Given the description of an element on the screen output the (x, y) to click on. 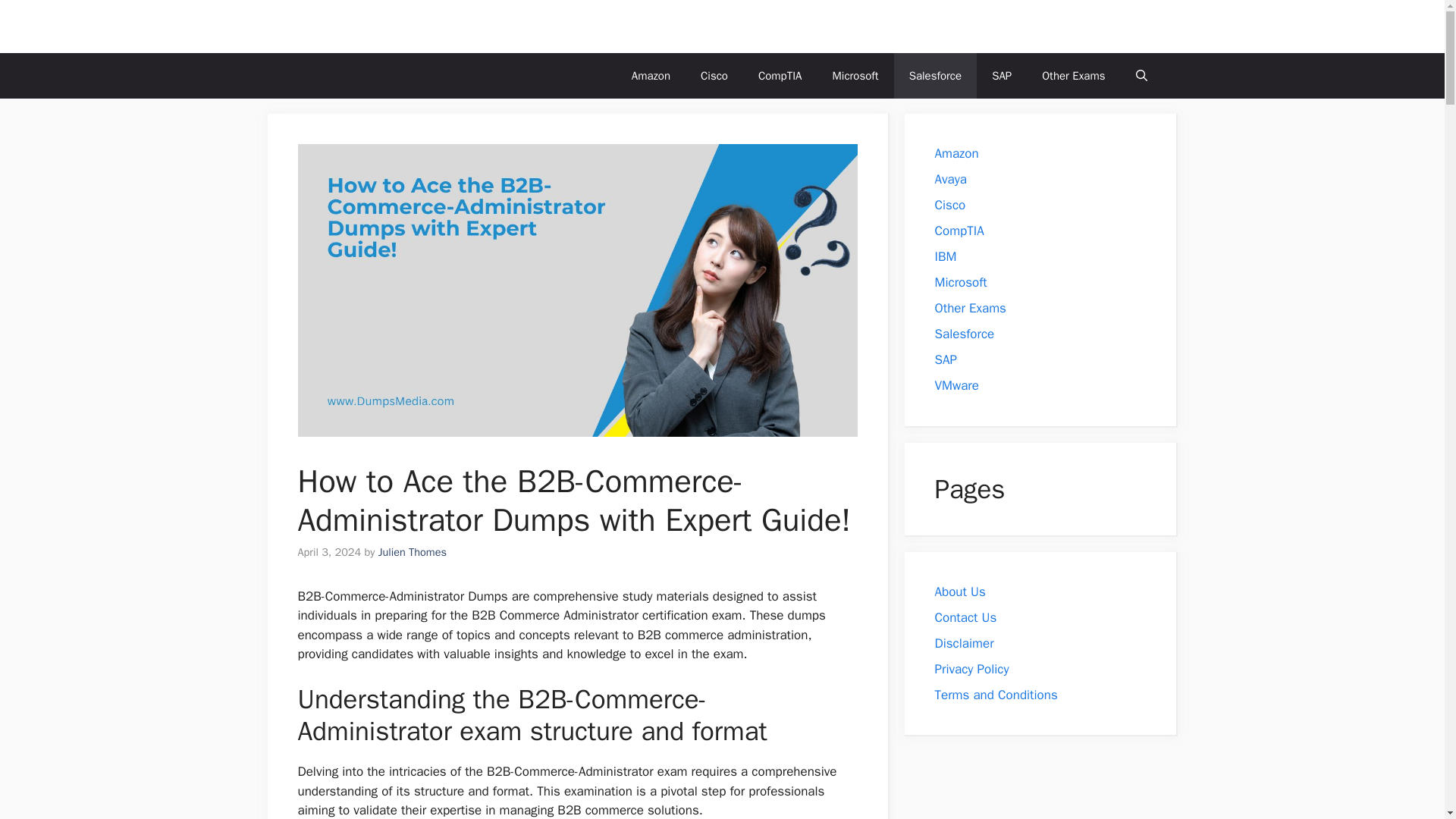
Microsoft (960, 282)
Contact Us (964, 617)
VMware (956, 385)
Salesforce (964, 333)
Microsoft (854, 75)
Disclaimer  (965, 643)
View all posts by Julien Thomes (412, 551)
CompTIA (959, 230)
Salesforce (934, 75)
CompTIA (779, 75)
